Given the description of an element on the screen output the (x, y) to click on. 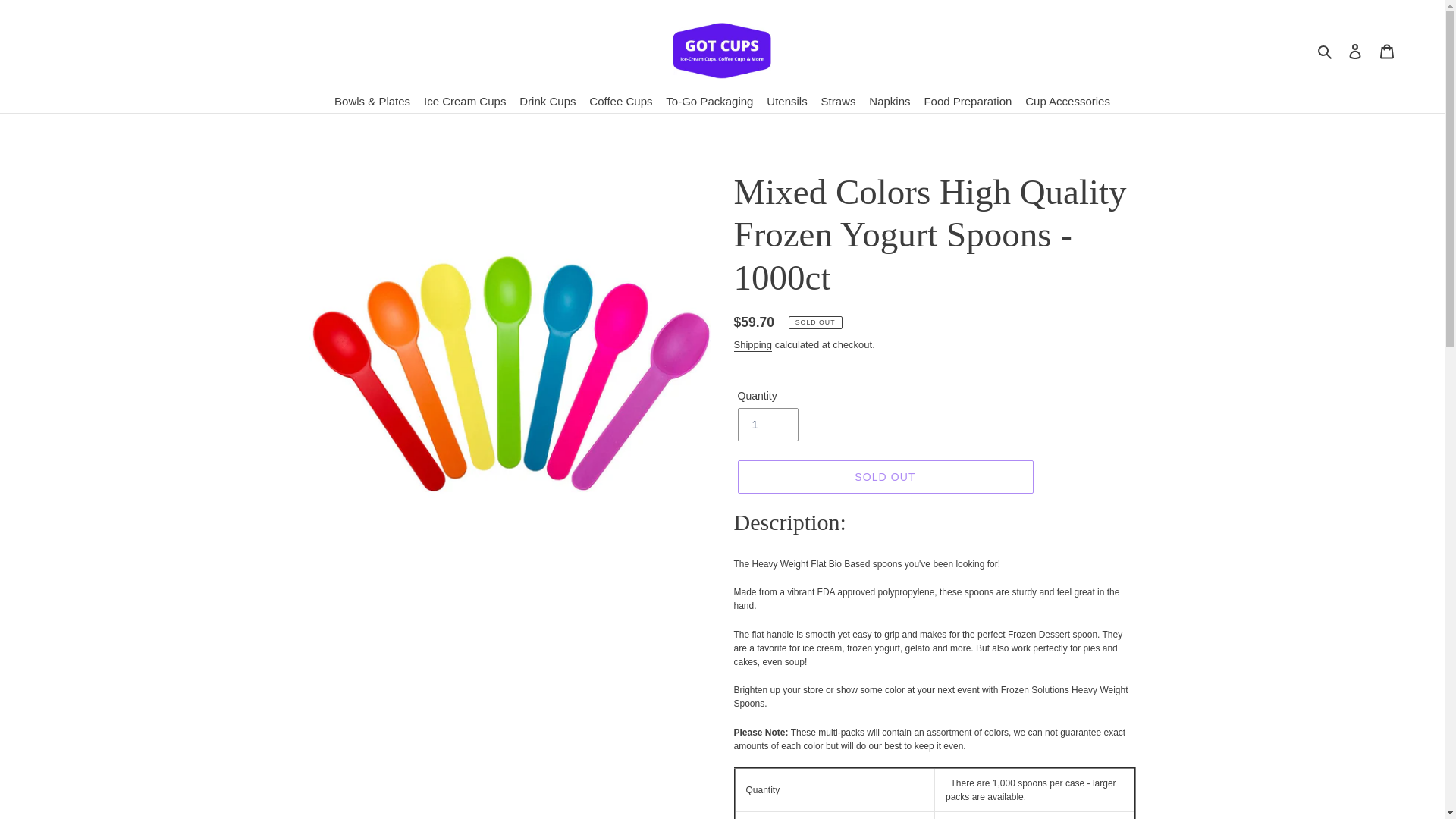
Log in (1355, 50)
Cart (1387, 50)
Disposable Cups with Lids Wholesale (721, 50)
1 (766, 424)
Search (1326, 49)
